Given the description of an element on the screen output the (x, y) to click on. 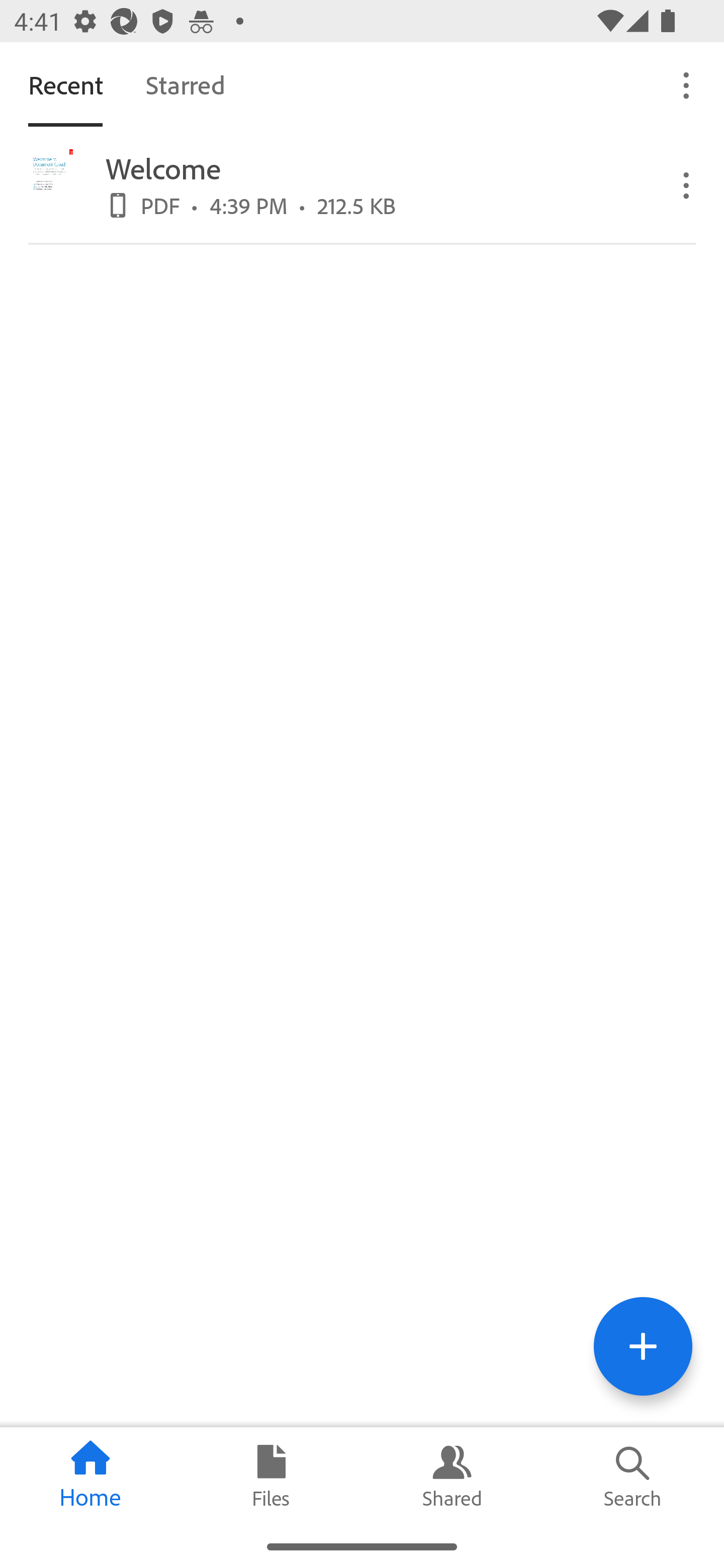
Recent (65, 84)
Starred (185, 84)
Overflow (687, 84)
Overflow (687, 184)
Tools (642, 1345)
Home (90, 1475)
Files (271, 1475)
Shared (452, 1475)
Search (633, 1475)
